Given the description of an element on the screen output the (x, y) to click on. 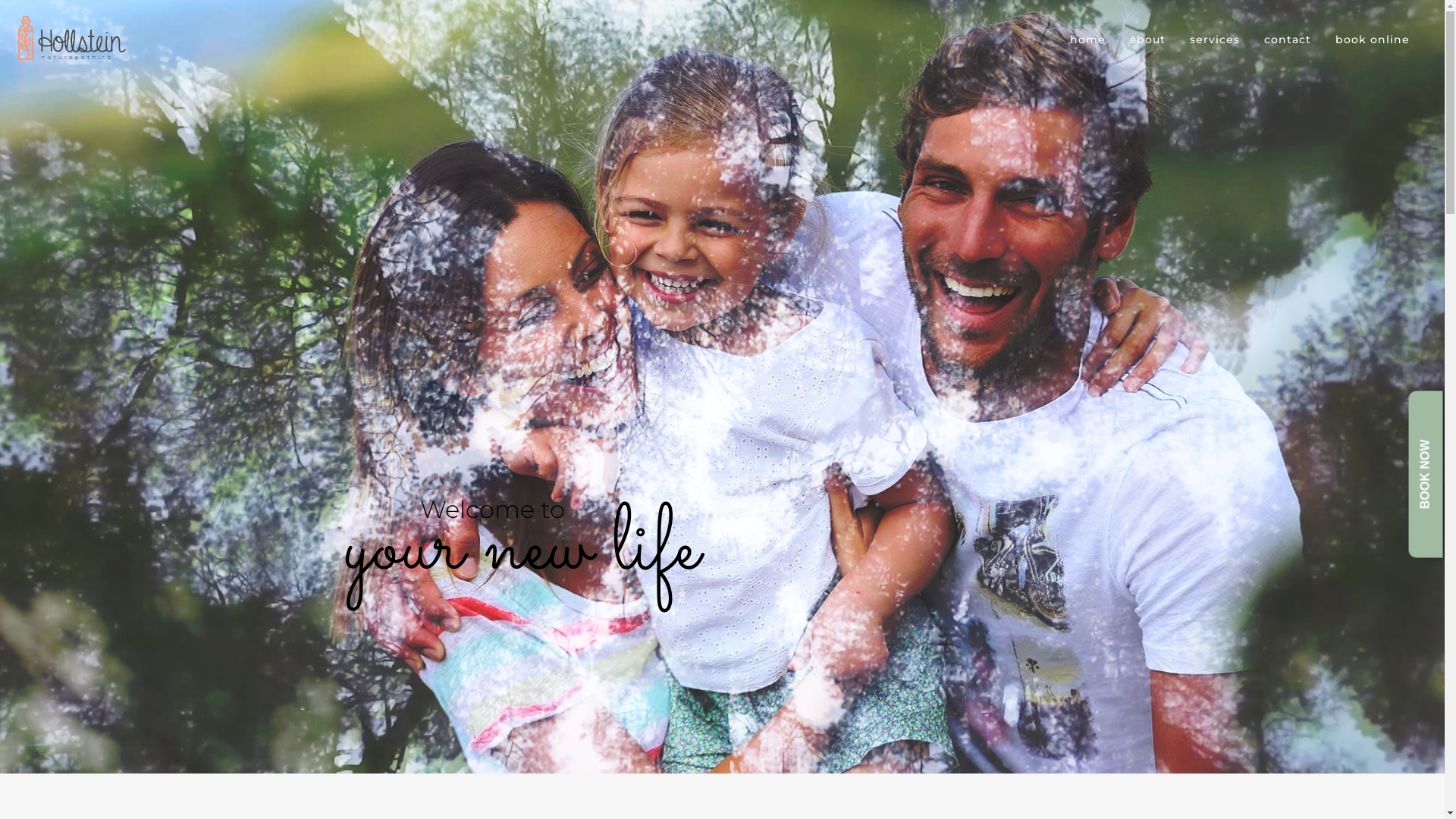
home Element type: text (1087, 37)
Reconnect Naturopathy Element type: hover (71, 37)
contact Element type: text (1287, 37)
services Element type: text (1214, 37)
book online Element type: text (1372, 37)
about Element type: text (1147, 37)
